Given the description of an element on the screen output the (x, y) to click on. 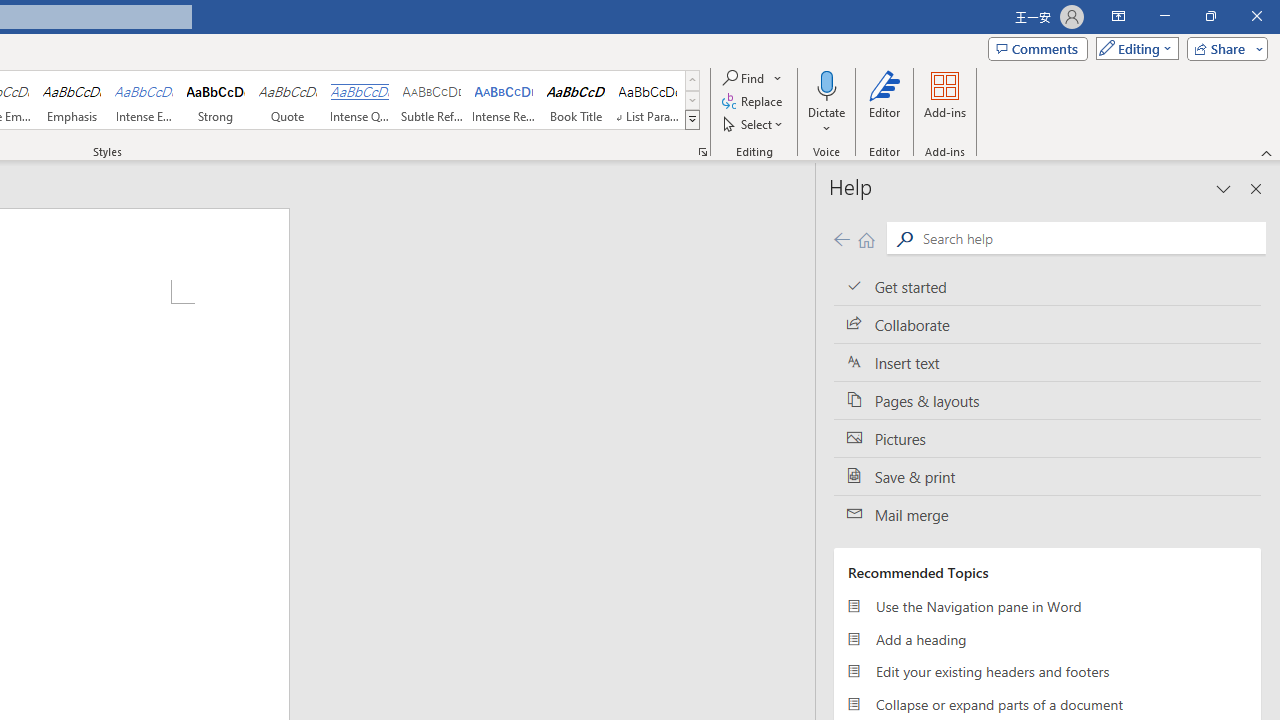
Share (1223, 48)
Strong (216, 100)
Emphasis (71, 100)
Row up (692, 79)
